Given the description of an element on the screen output the (x, y) to click on. 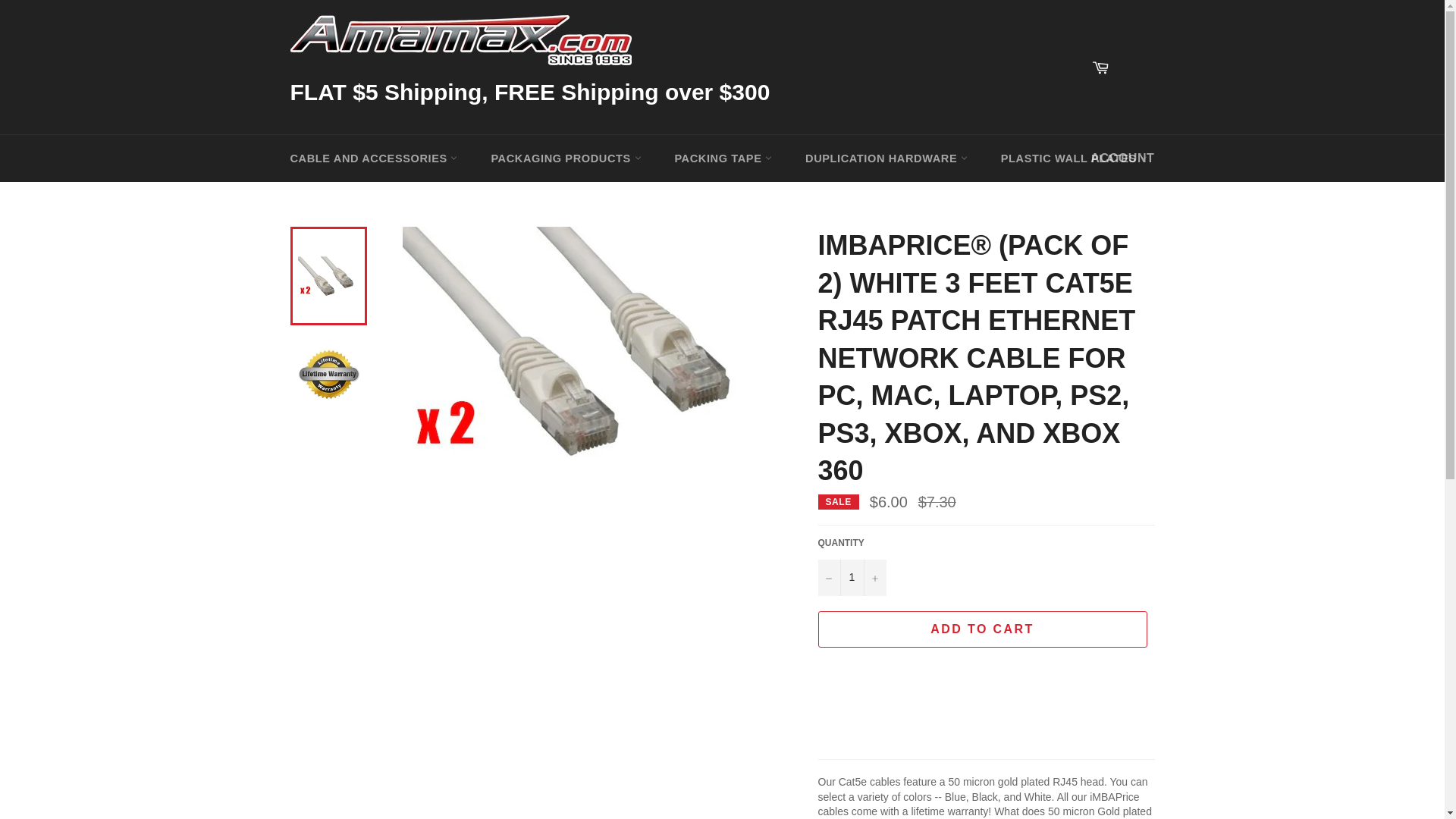
1 (850, 577)
Free Shipping (1135, 67)
